Given the description of an element on the screen output the (x, y) to click on. 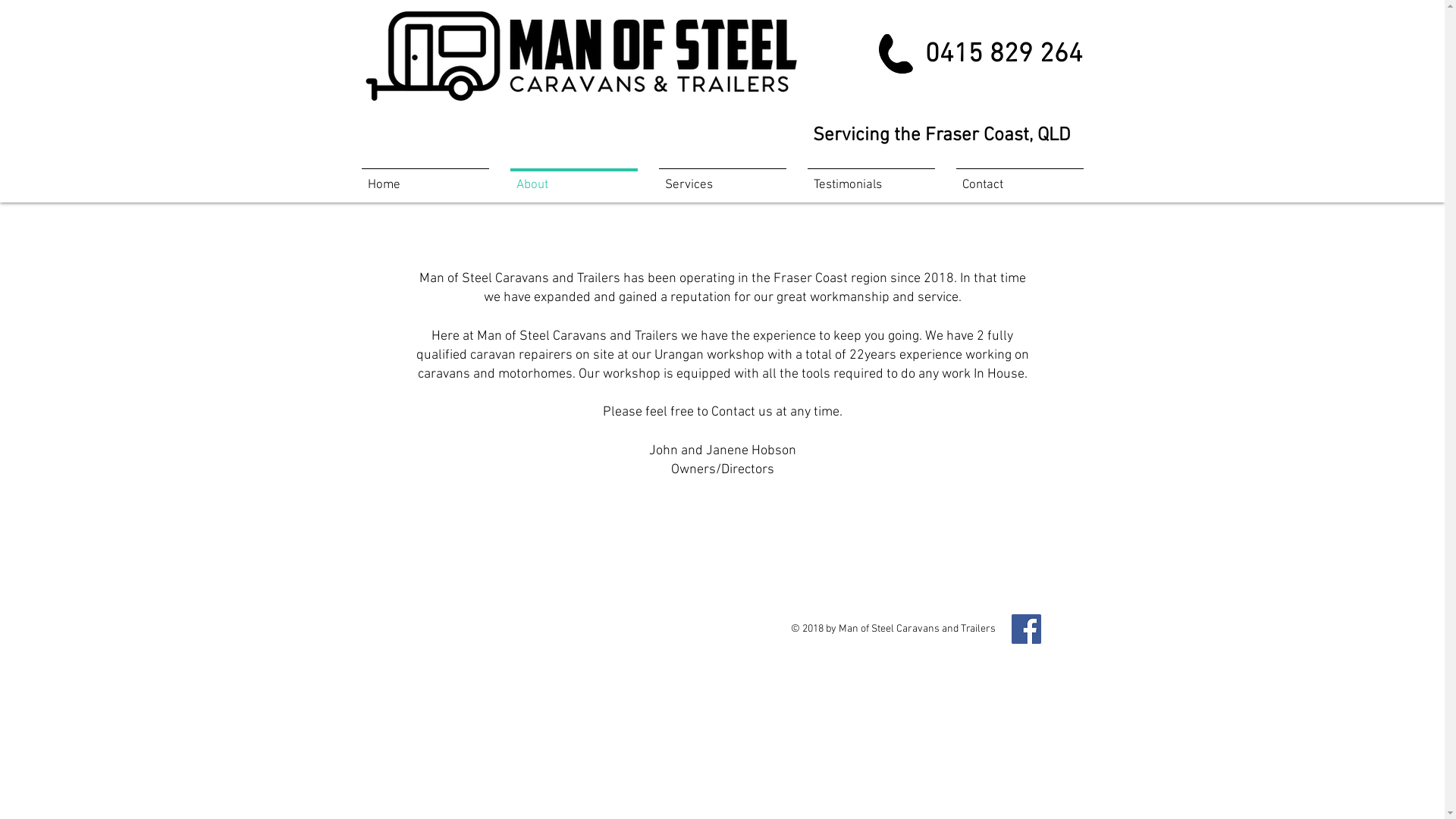
Contact Element type: text (1018, 178)
Testimonials Element type: text (870, 178)
About Element type: text (572, 178)
Home Element type: text (424, 178)
Services Element type: text (721, 178)
